Given the description of an element on the screen output the (x, y) to click on. 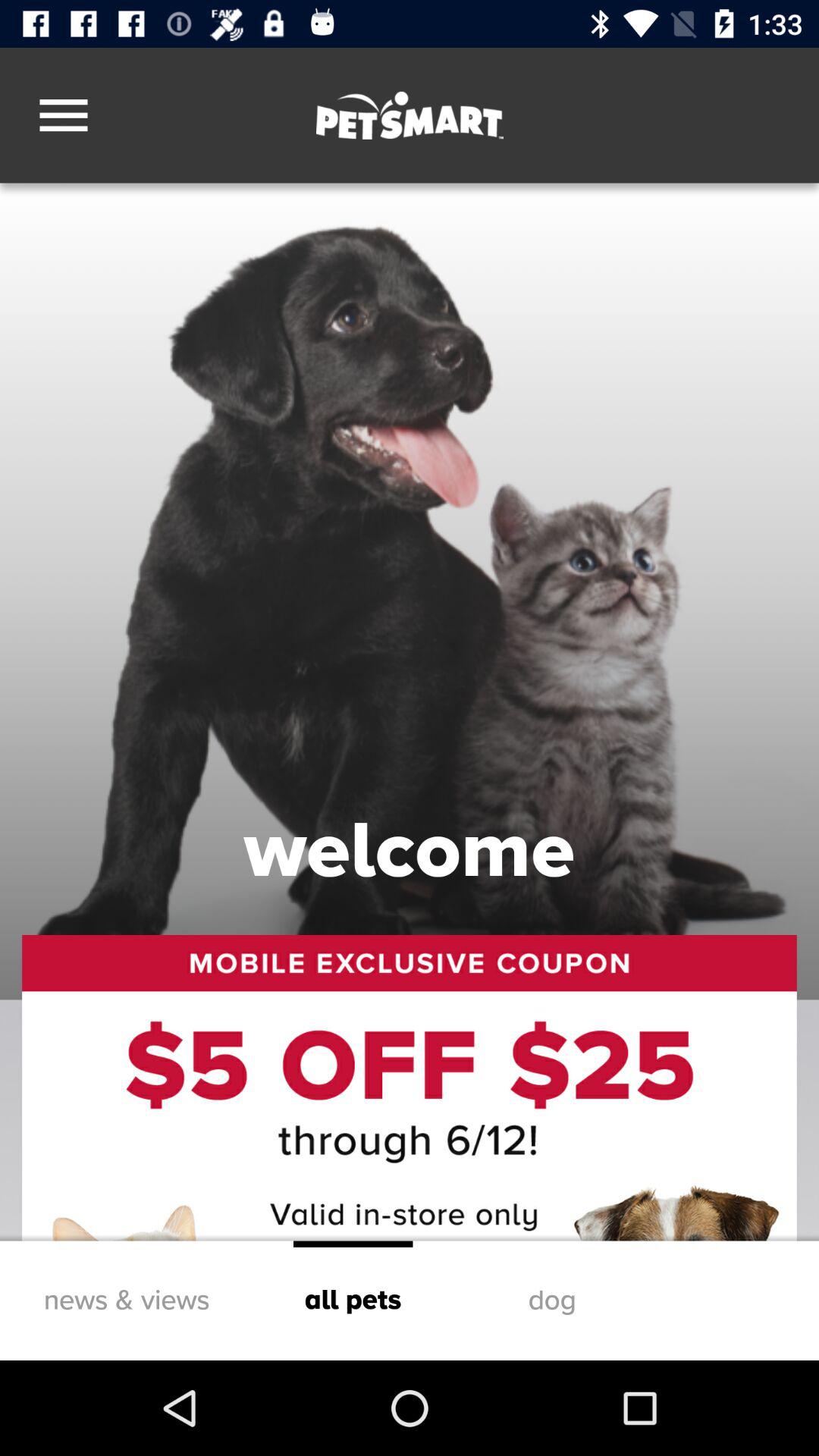
press the icon below welcome (409, 1088)
